Given the description of an element on the screen output the (x, y) to click on. 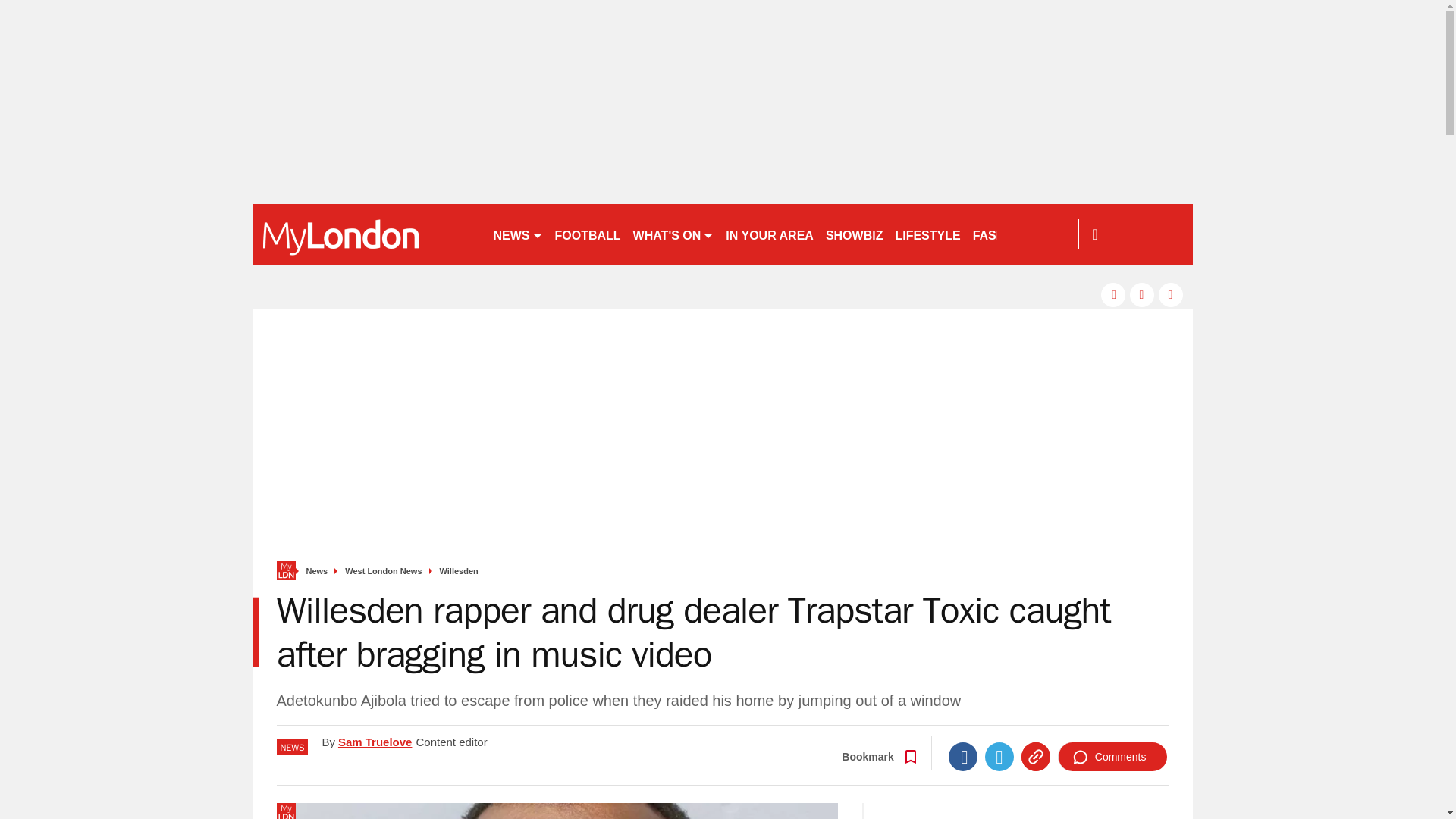
LIFESTYLE (927, 233)
getwestlondon (365, 233)
NEWS (517, 233)
Twitter (999, 756)
FOOTBALL (587, 233)
instagram (1170, 294)
facebook (1112, 294)
Facebook (962, 756)
WHAT'S ON (673, 233)
IN YOUR AREA (769, 233)
